Given the description of an element on the screen output the (x, y) to click on. 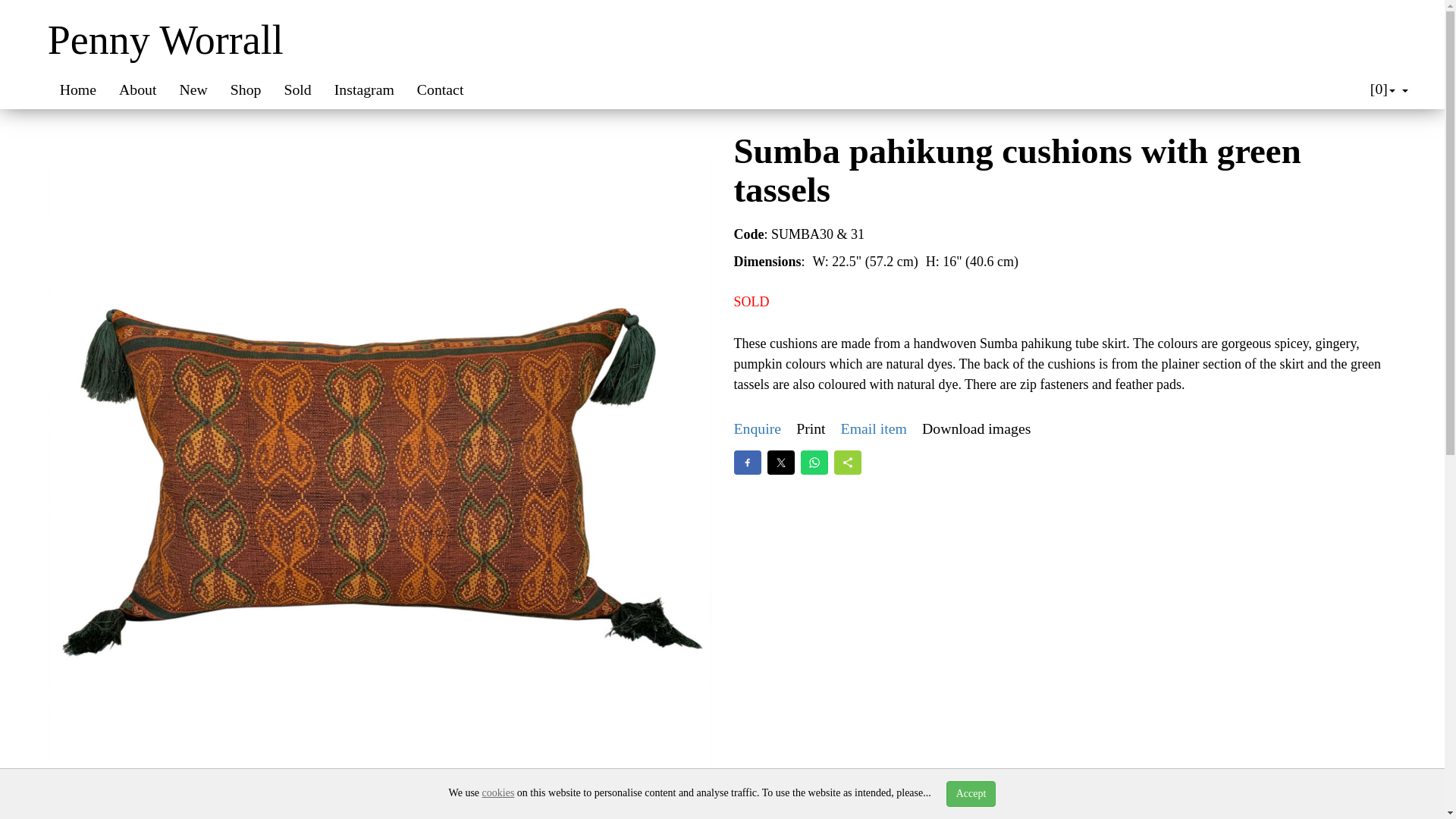
Email item (874, 427)
Print (810, 427)
Instagram (364, 89)
Home (77, 89)
About (137, 89)
Sold (296, 89)
Enquire (757, 427)
New (192, 89)
Download images (975, 427)
Shop (246, 89)
Contact (441, 89)
Penny Worrall (165, 40)
